Given the description of an element on the screen output the (x, y) to click on. 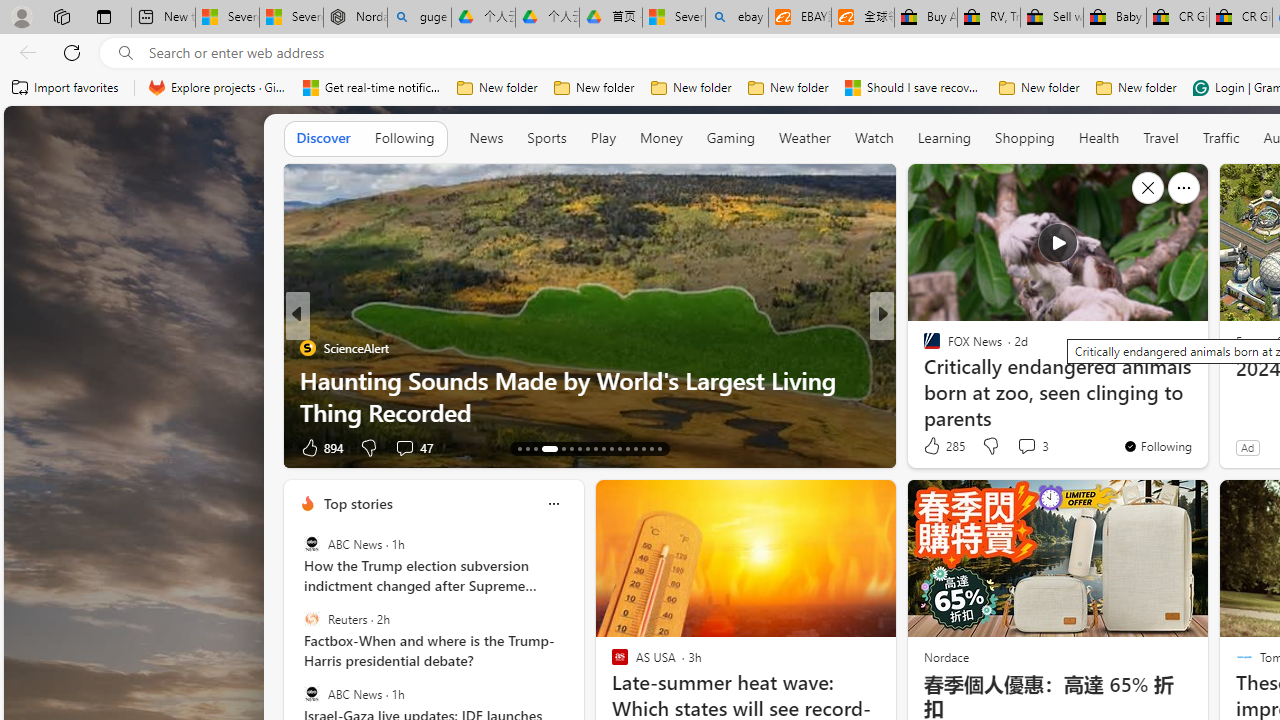
AutomationID: tab-42 (659, 448)
AutomationID: tab-23 (610, 448)
Lifewire (923, 380)
Traffic (1220, 137)
Gaming (730, 137)
AutomationID: tab-20 (586, 448)
Class: icon-img (553, 503)
Dislike (989, 446)
News (486, 137)
Shopping (1025, 137)
Sports (546, 137)
View comments 167 Comment (1013, 447)
View comments 3 Comment (1032, 446)
